Given the description of an element on the screen output the (x, y) to click on. 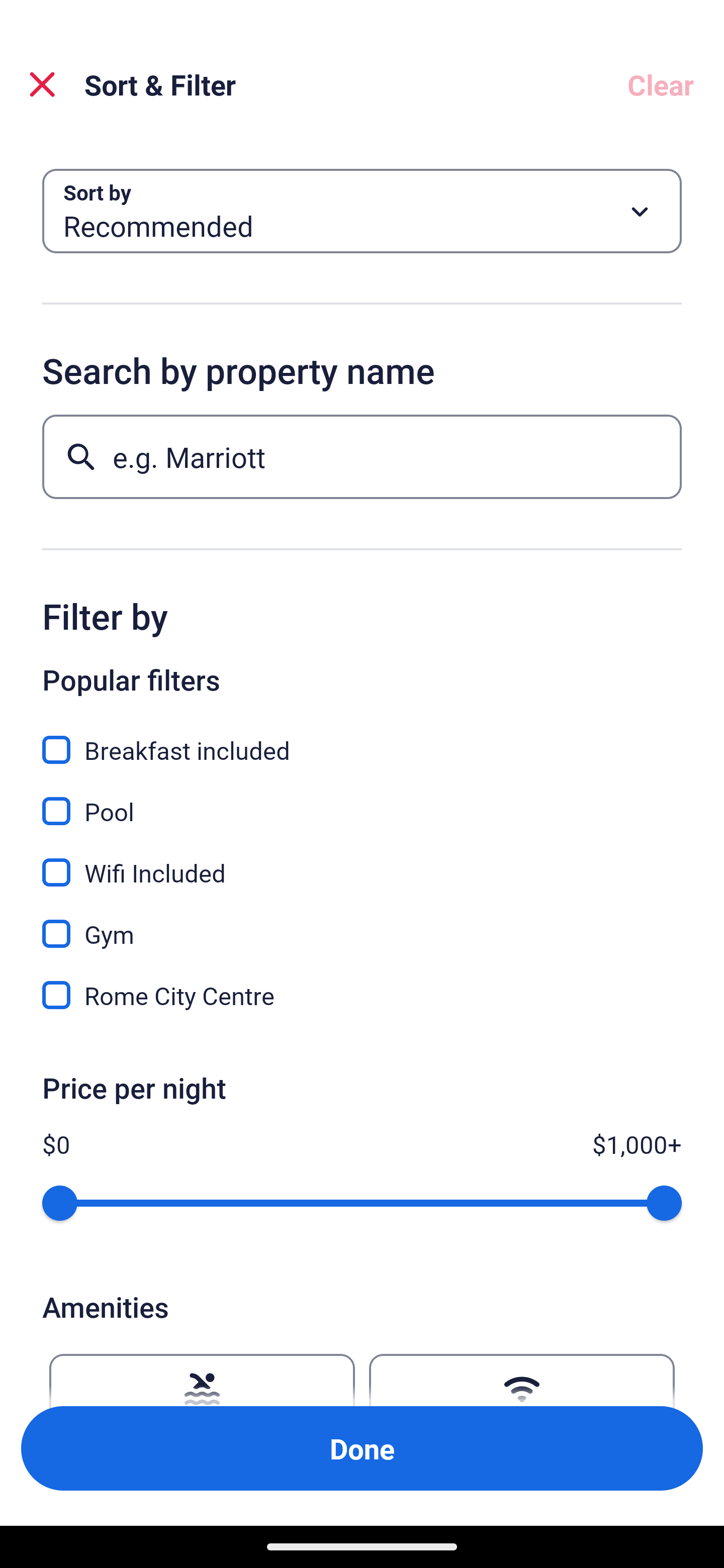
Close Sort and Filter (42, 84)
Clear (660, 84)
Sort by Button Recommended (361, 211)
e.g. Marriott Button (361, 455)
Breakfast included, Breakfast included (361, 738)
Pool, Pool (361, 800)
Wifi Included, Wifi Included (361, 861)
Gym, Gym (361, 922)
Rome City Centre, Rome City Centre (361, 995)
Apply and close Sort and Filter Done (361, 1448)
